Given the description of an element on the screen output the (x, y) to click on. 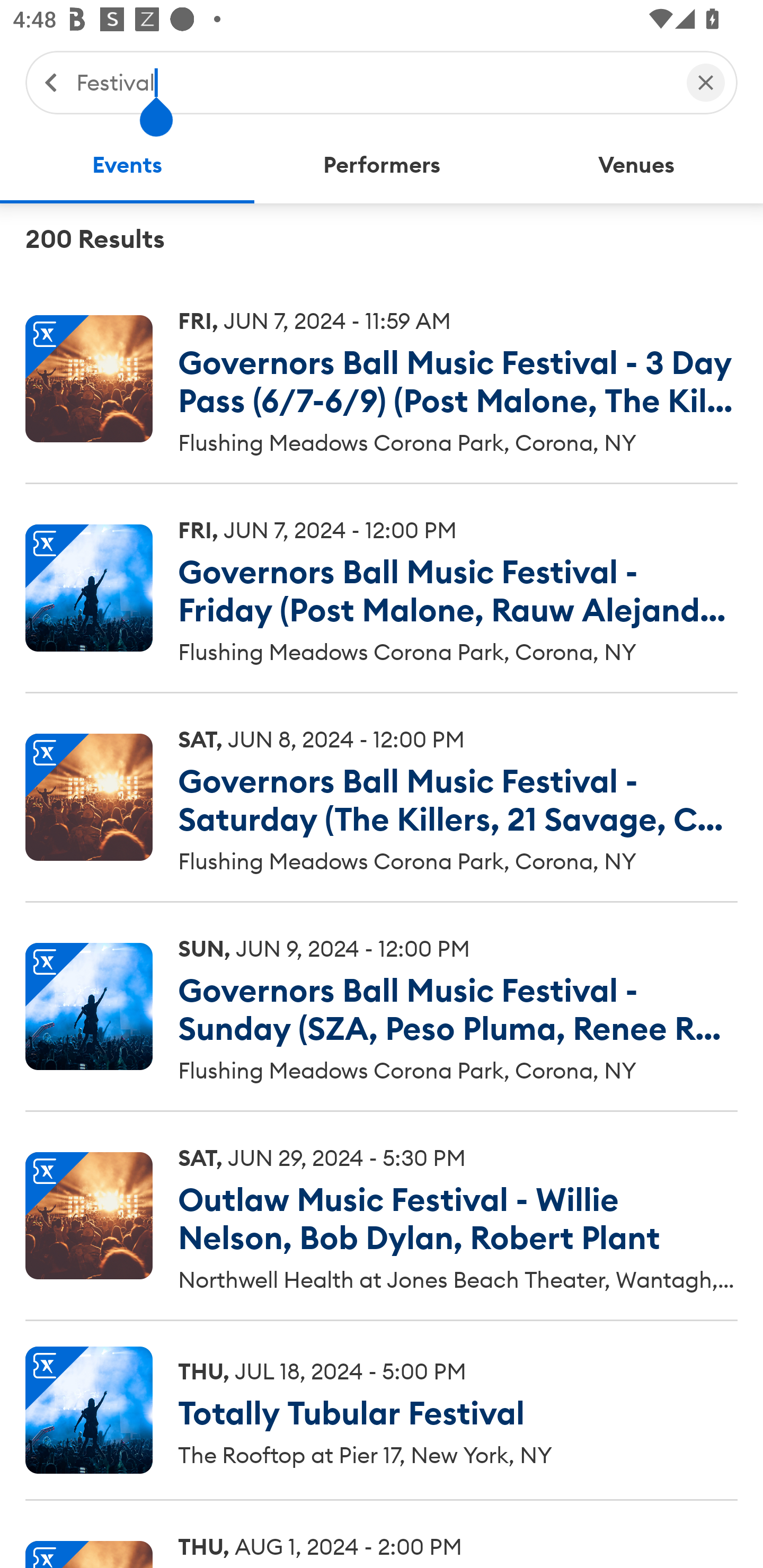
Festival (371, 81)
Clear Search (705, 81)
Performers (381, 165)
Venues (635, 165)
